Given the description of an element on the screen output the (x, y) to click on. 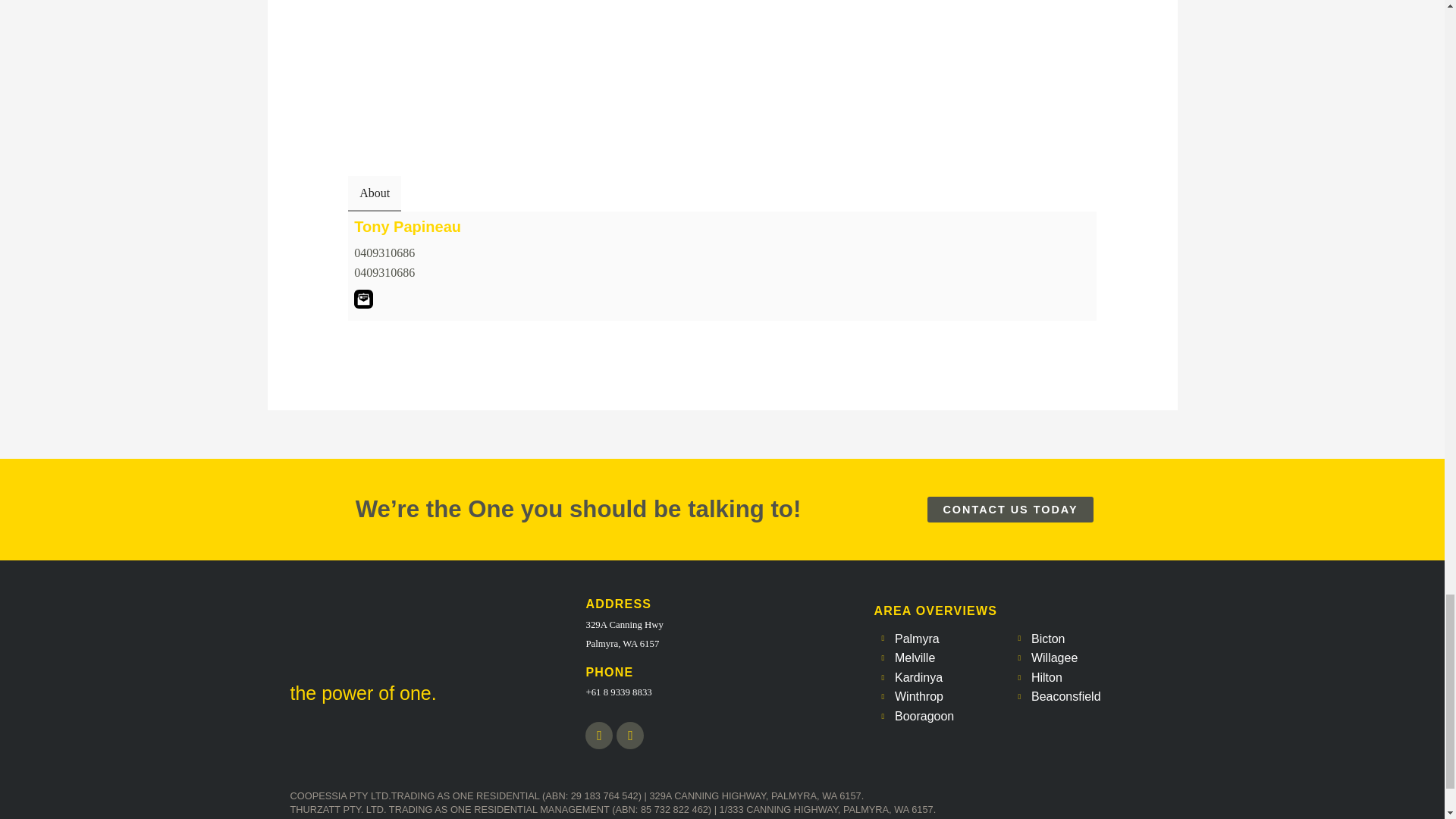
Contact Tony Papineau by Email (362, 298)
